Given the description of an element on the screen output the (x, y) to click on. 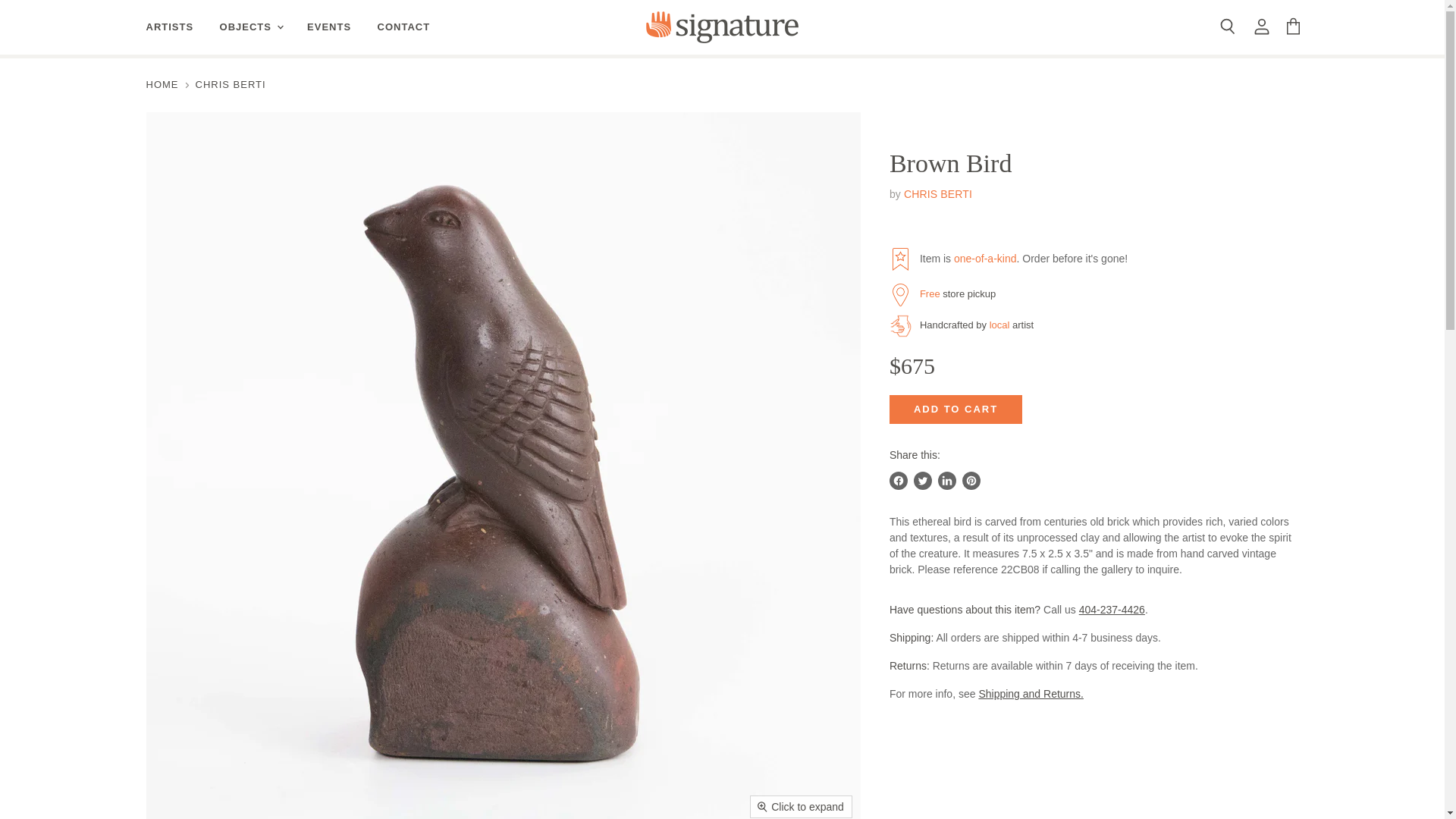
View account (1261, 27)
ARTISTS (170, 27)
EVENTS (328, 27)
OBJECTS (250, 27)
Search (1226, 27)
CONTACT (404, 27)
tel:4042374426 (1111, 609)
Chris Berti (938, 193)
